Given the description of an element on the screen output the (x, y) to click on. 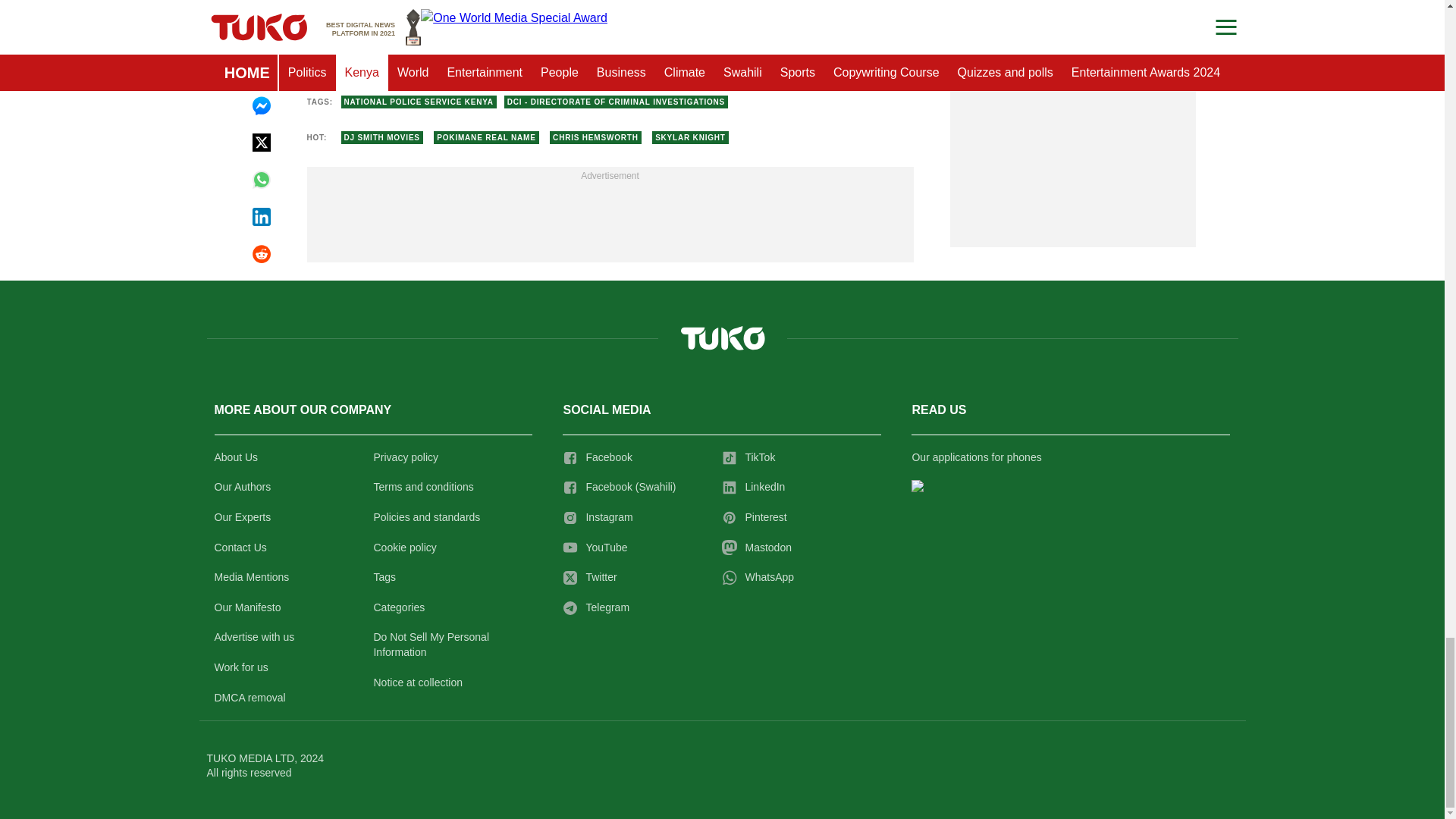
Author page (533, 52)
